Given the description of an element on the screen output the (x, y) to click on. 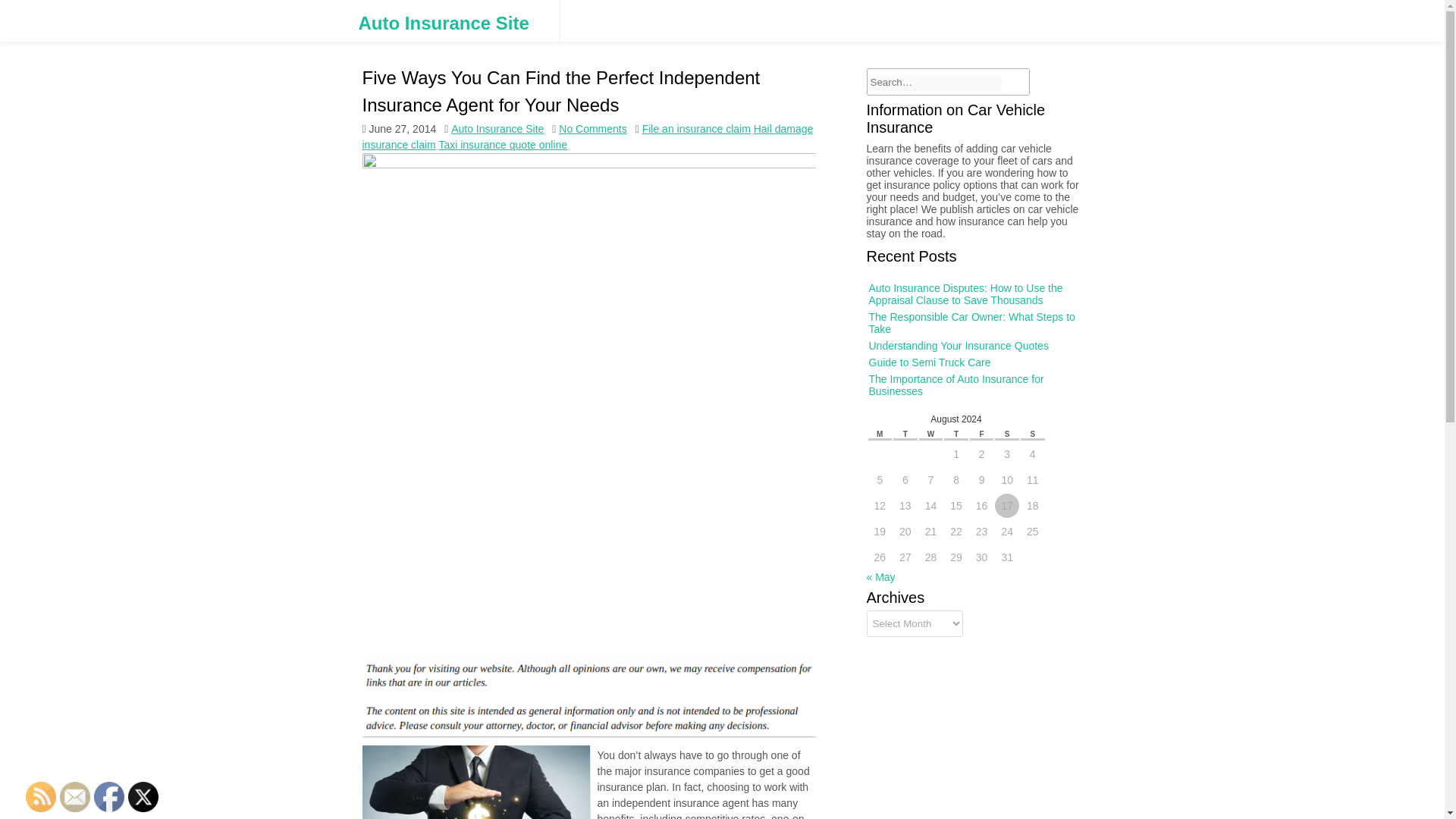
Friday (981, 434)
Saturday (1006, 434)
Hail damage insurance claim (587, 136)
File an insurance claim (696, 128)
Thursday (955, 434)
Auto Insurance Site (443, 23)
No Comments (592, 128)
Taxi insurance quote online (502, 144)
Tuesday (905, 434)
